Given the description of an element on the screen output the (x, y) to click on. 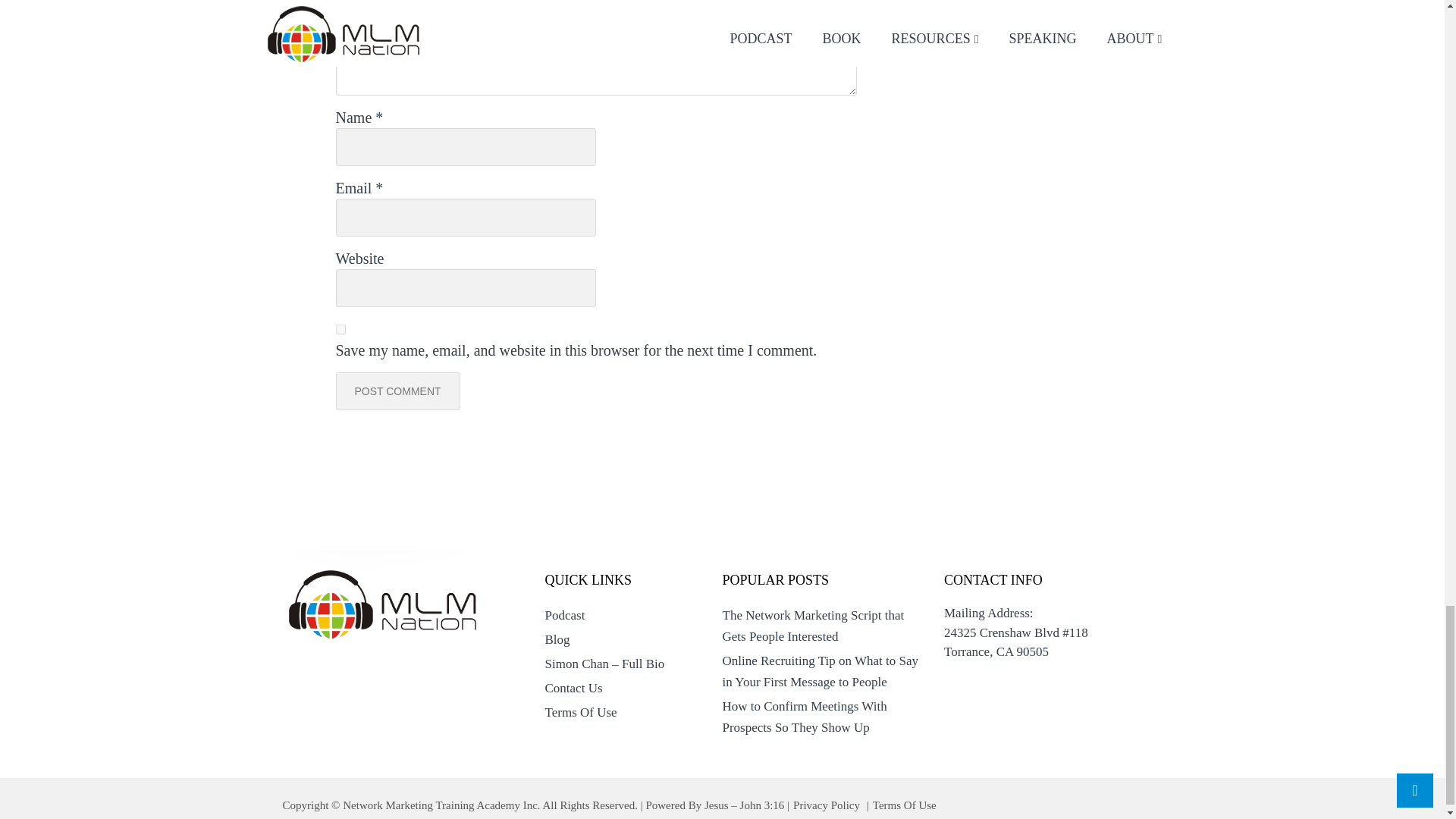
yes (339, 329)
Post Comment (397, 391)
